Given the description of an element on the screen output the (x, y) to click on. 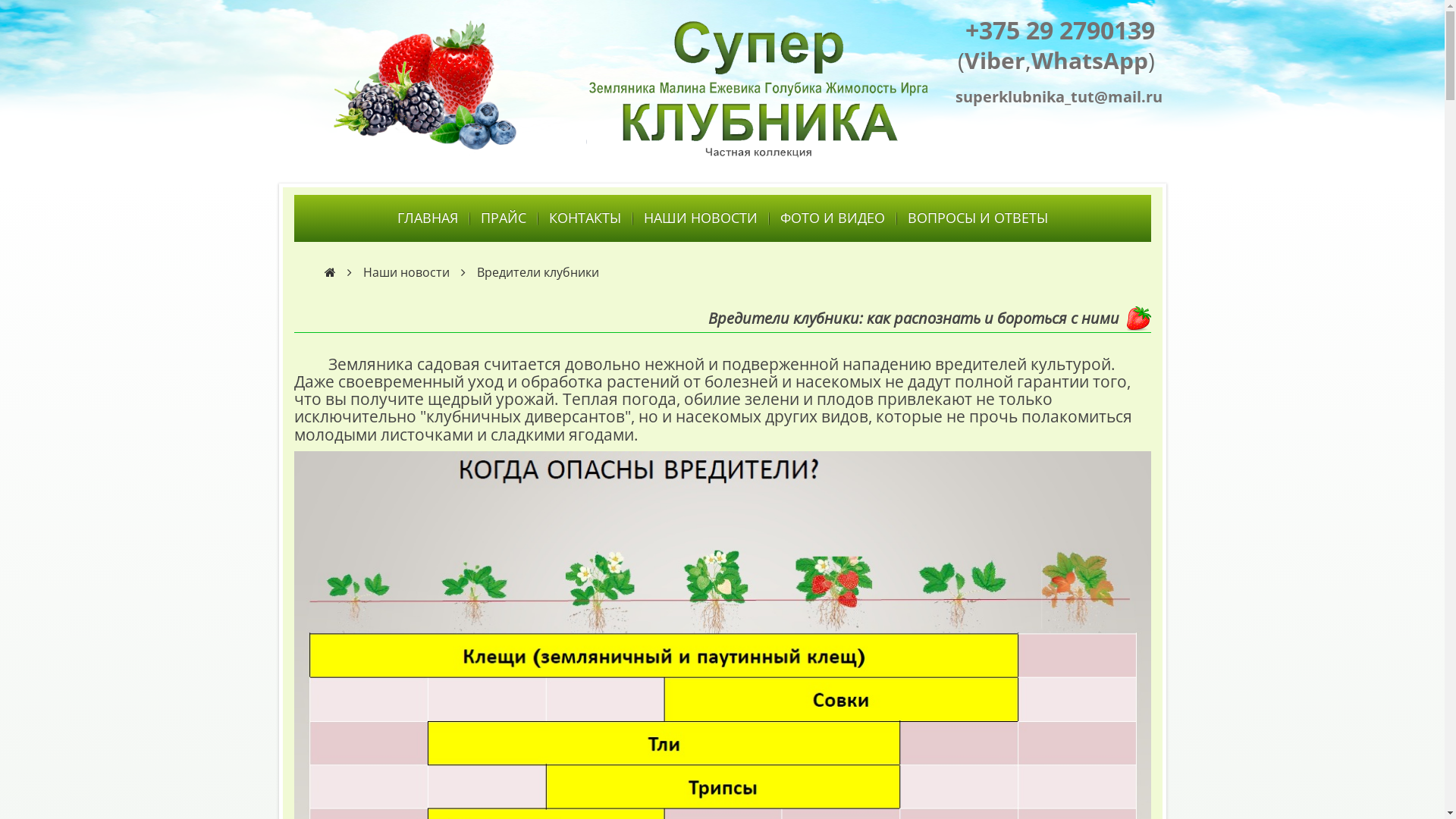
+375 29 2790139 Element type: text (1059, 29)
WhatsApp Element type: text (1089, 59)
Viber Element type: text (994, 59)
superklubnika_tut@mail.ru Element type: text (1054, 98)
